Given the description of an element on the screen output the (x, y) to click on. 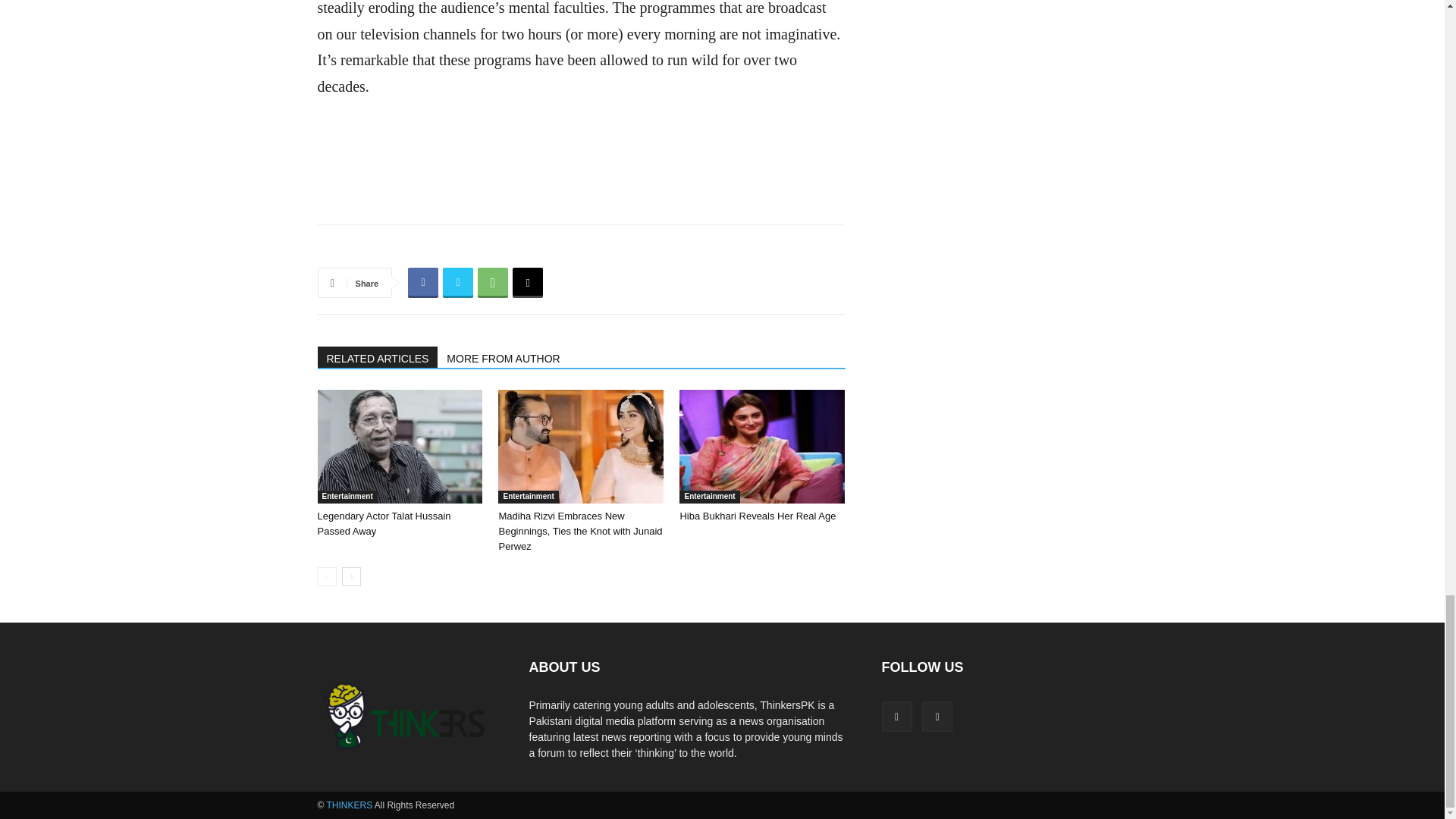
Twitter (457, 282)
Email (527, 282)
WhatsApp (492, 282)
Facebook (422, 282)
bottomFacebookLike (430, 248)
